Given the description of an element on the screen output the (x, y) to click on. 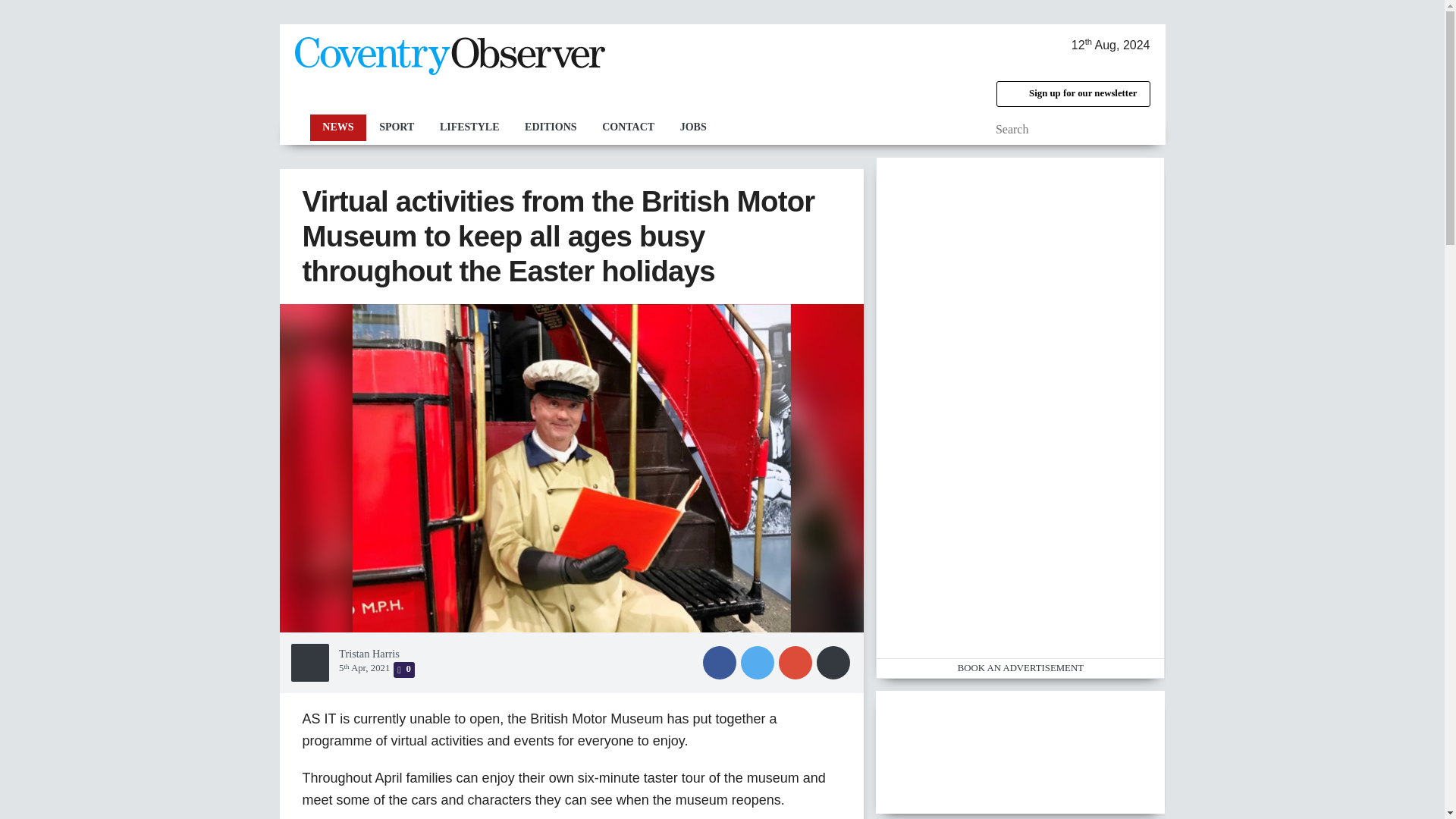
The Coventry Observer (449, 55)
LIFESTYLE (469, 127)
SPORT (396, 127)
CONTACT (627, 127)
NEWS (337, 127)
  Sign up for our newsletter (1072, 94)
EDITIONS (550, 127)
JOBS (692, 127)
